Given the description of an element on the screen output the (x, y) to click on. 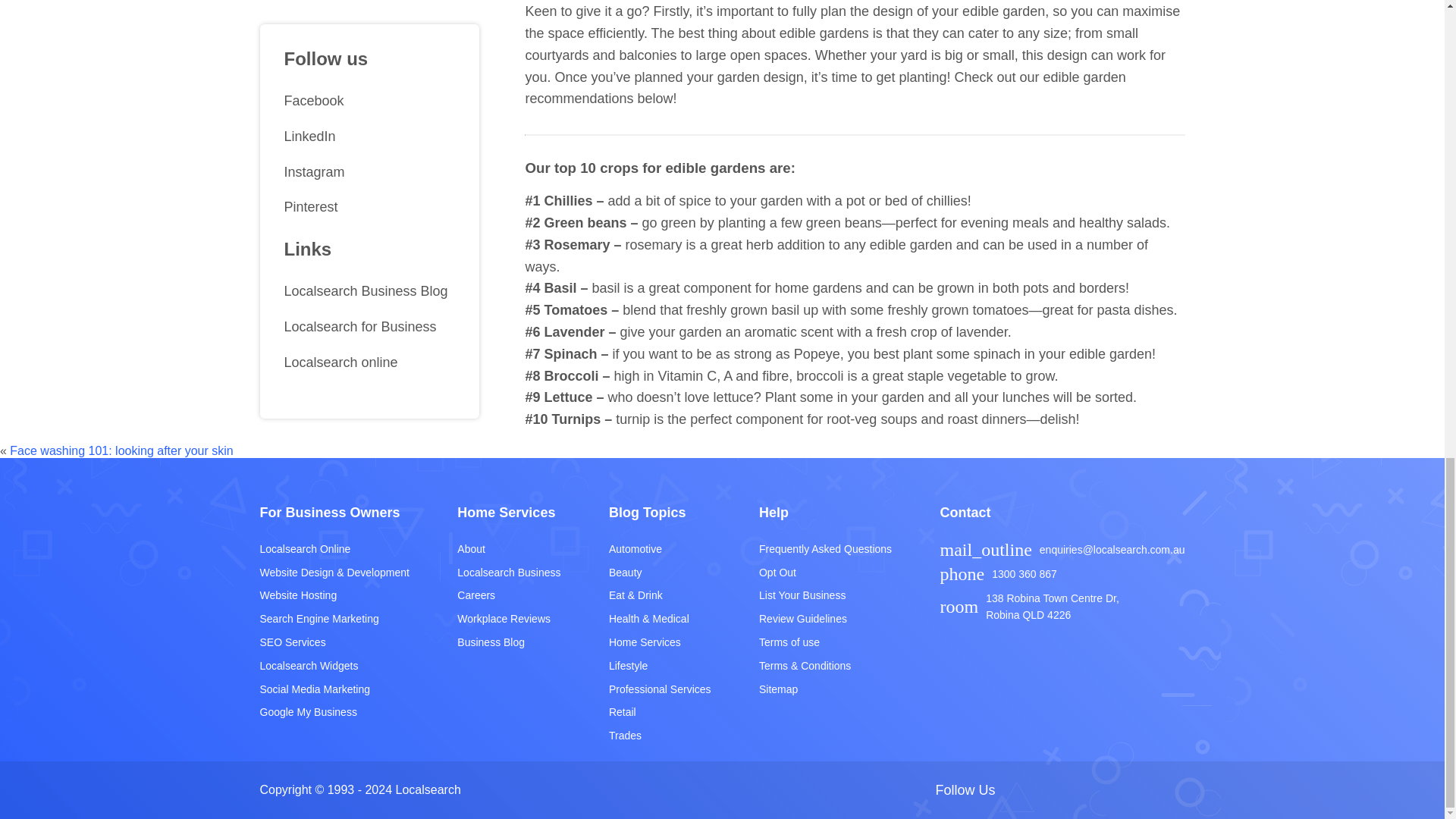
Business Blog (508, 642)
Localsearch online (368, 35)
Google My Business (334, 712)
Localsearch Widgets (334, 666)
Localsearch for Business (368, 8)
Localsearch Business (508, 571)
Careers (508, 595)
Workplace Reviews (508, 618)
SEO Services (334, 642)
About (508, 549)
Social Media Marketing (334, 689)
Face washing 101: looking after your skin (121, 450)
Search Engine Marketing (334, 618)
Automotive (659, 549)
Localsearch Online (334, 549)
